Given the description of an element on the screen output the (x, y) to click on. 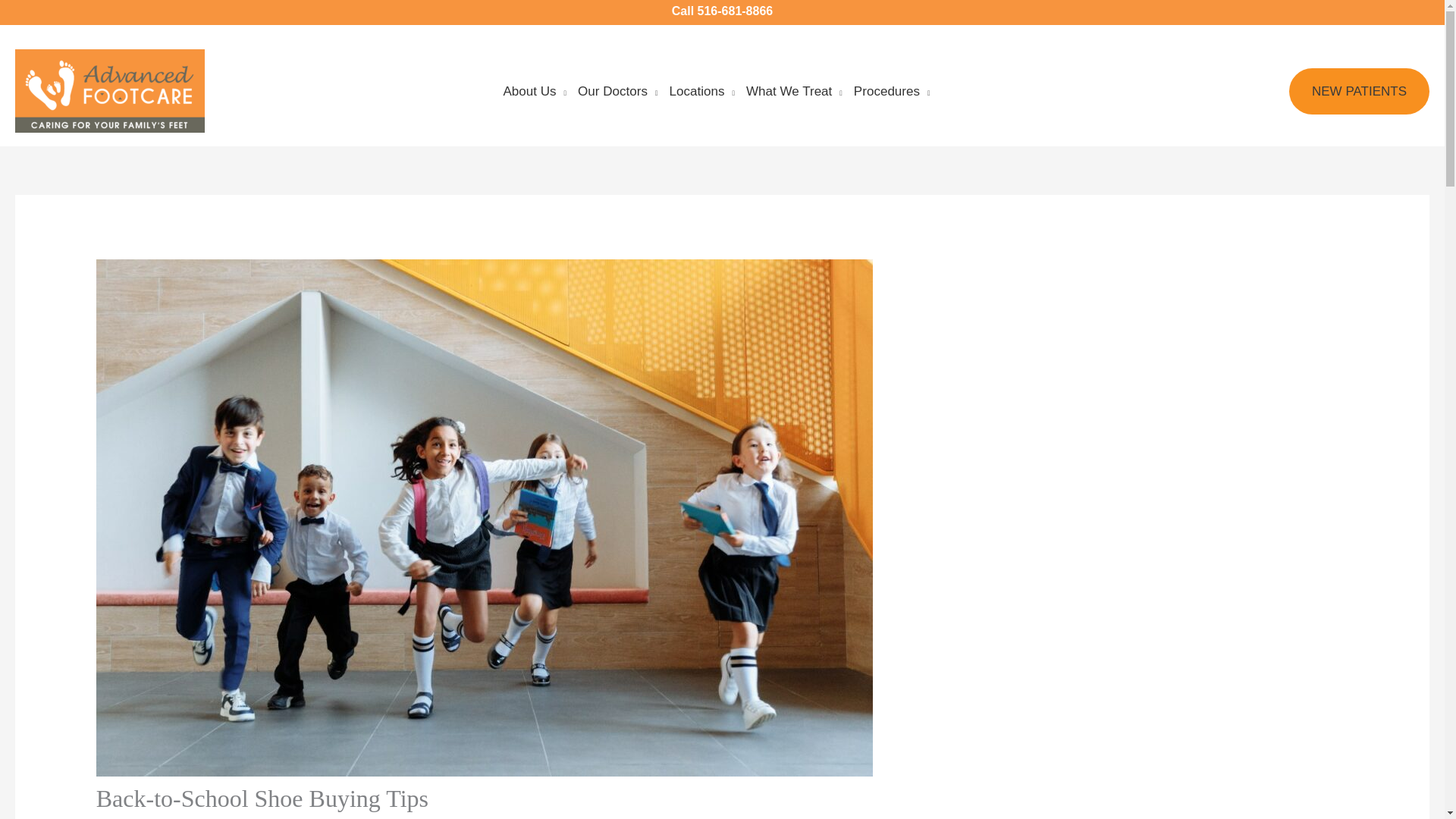
Our Doctors (623, 91)
About Us (540, 91)
